Given the description of an element on the screen output the (x, y) to click on. 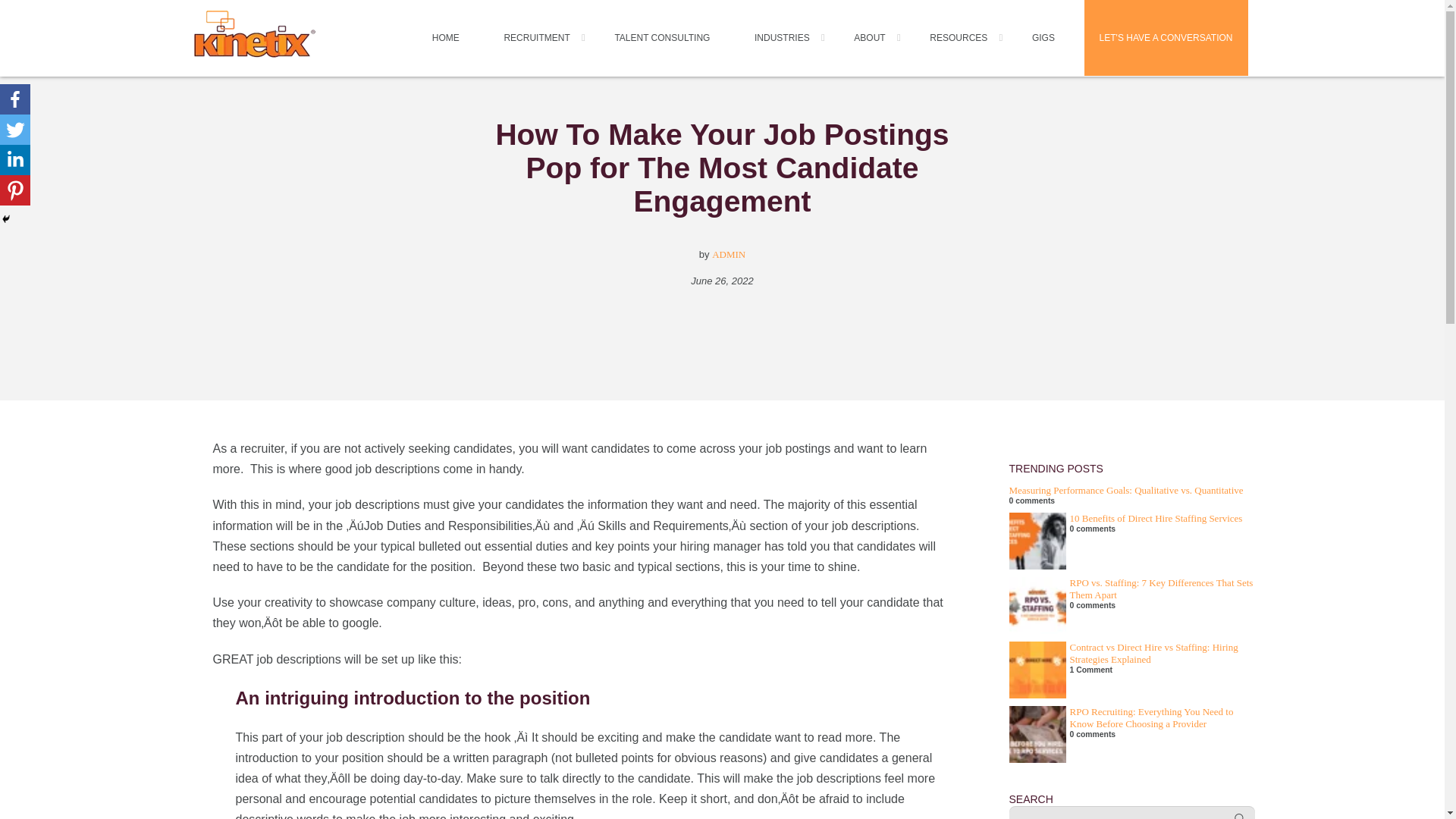
ADMIN (728, 254)
INDUSTRIES (782, 38)
Facebook (15, 99)
LET'S HAVE A CONVERSATION (1165, 38)
Hide (5, 218)
10 Benefits of Direct Hire Staffing Services (1154, 518)
RESOURCES (958, 38)
Pinterest (15, 190)
RECRUITMENT (536, 38)
Measuring Performance Goals: Qualitative vs. Quantitative (1126, 490)
Linkedin (15, 159)
TALENT CONSULTING (661, 38)
RPO vs. Staffing: 7 Key Differences That Sets Them Apart (1160, 588)
Twitter (15, 129)
